Given the description of an element on the screen output the (x, y) to click on. 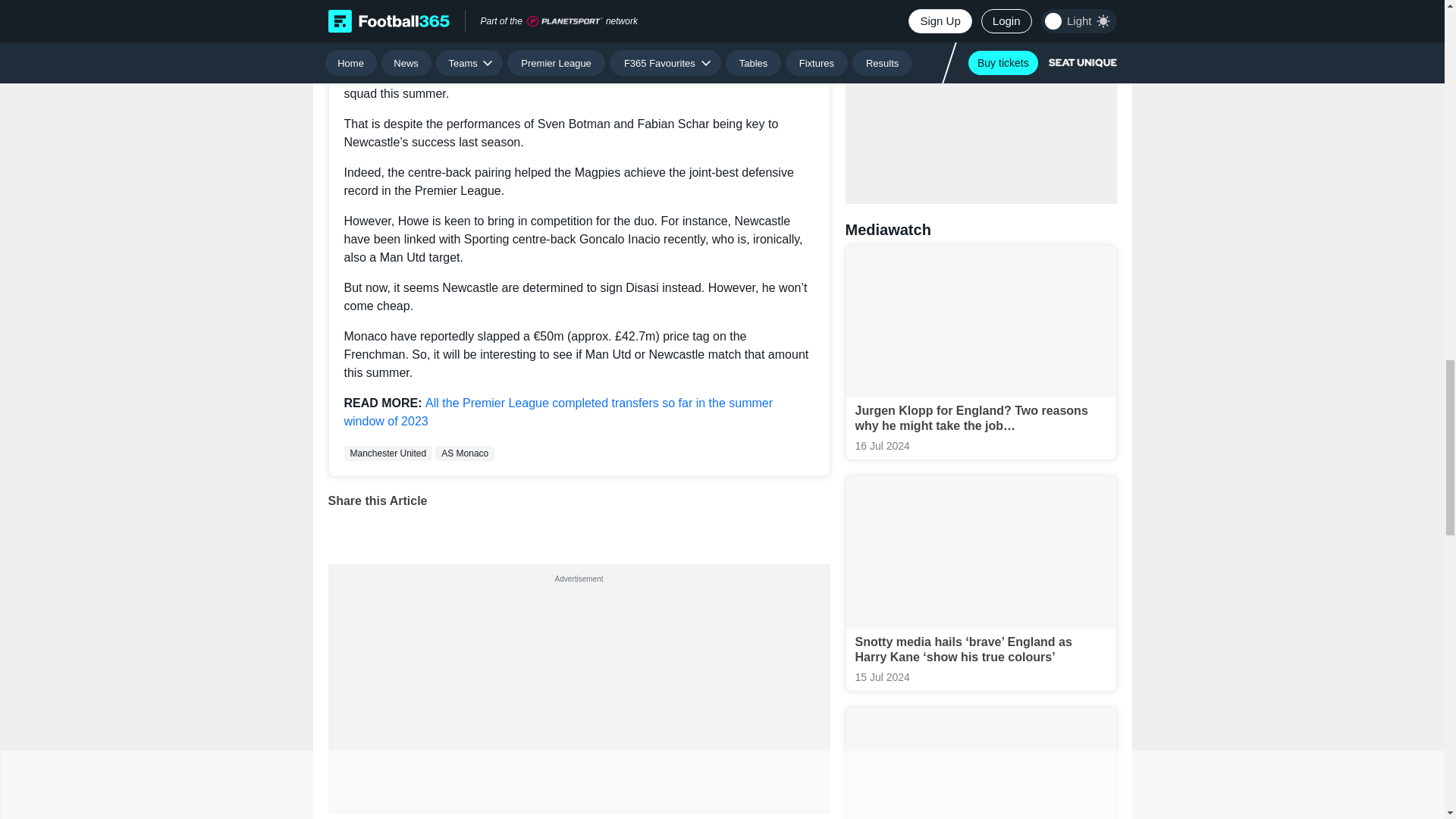
3rd party ad content (980, 89)
Vuukle Sharebar Widget (578, 527)
3rd party ad content (578, 683)
